Given the description of an element on the screen output the (x, y) to click on. 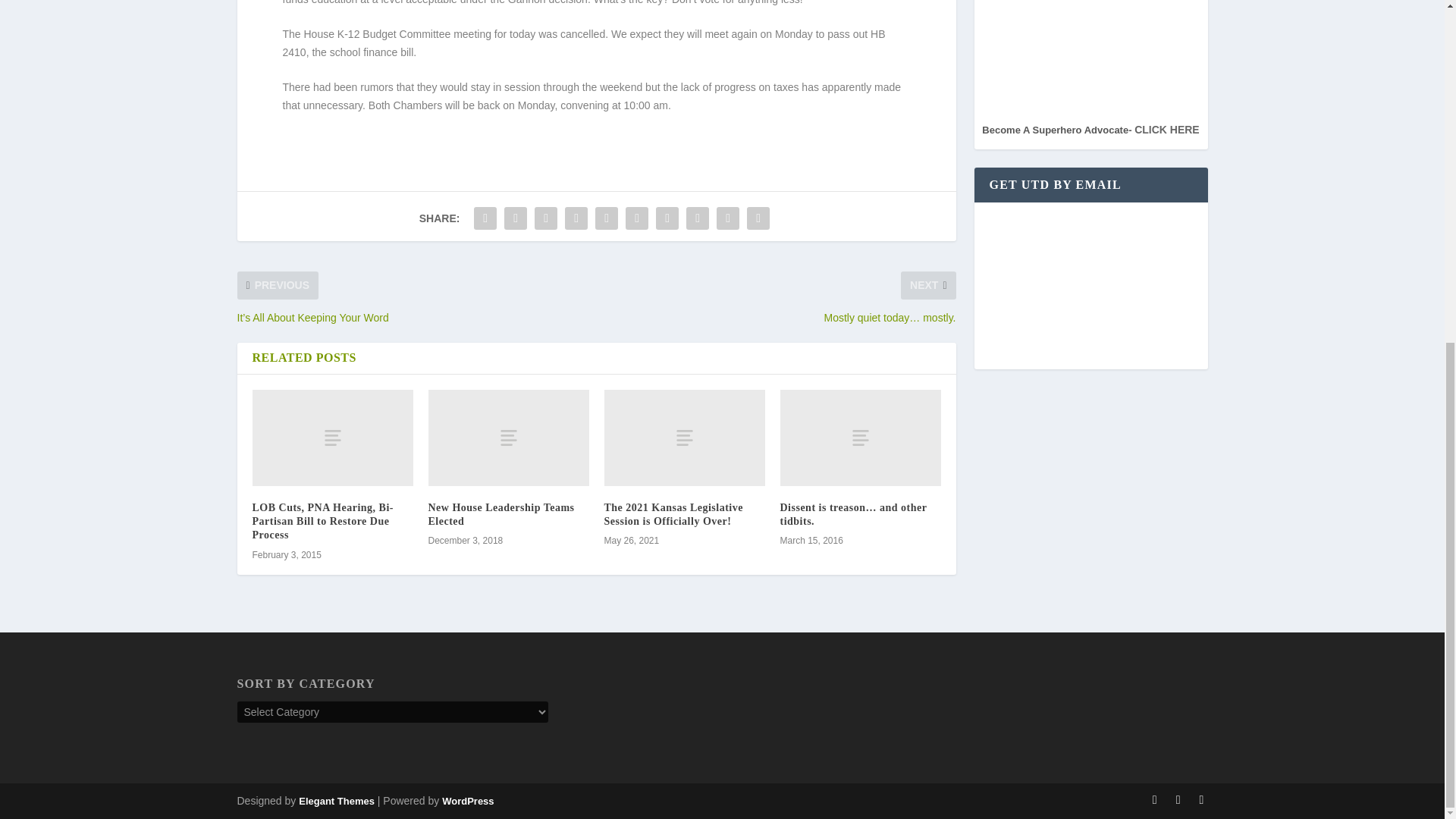
The 2021 Kansas Legislative Session is Officially Over! (673, 514)
Share "No Movement Today; Back to Work Next Week" via Email (727, 218)
Share "No Movement Today; Back to Work Next Week" via Buffer (667, 218)
Share "No Movement Today; Back to Work Next Week" via Tumblr (575, 218)
New House Leadership Teams Elected (500, 514)
